Given the description of an element on the screen output the (x, y) to click on. 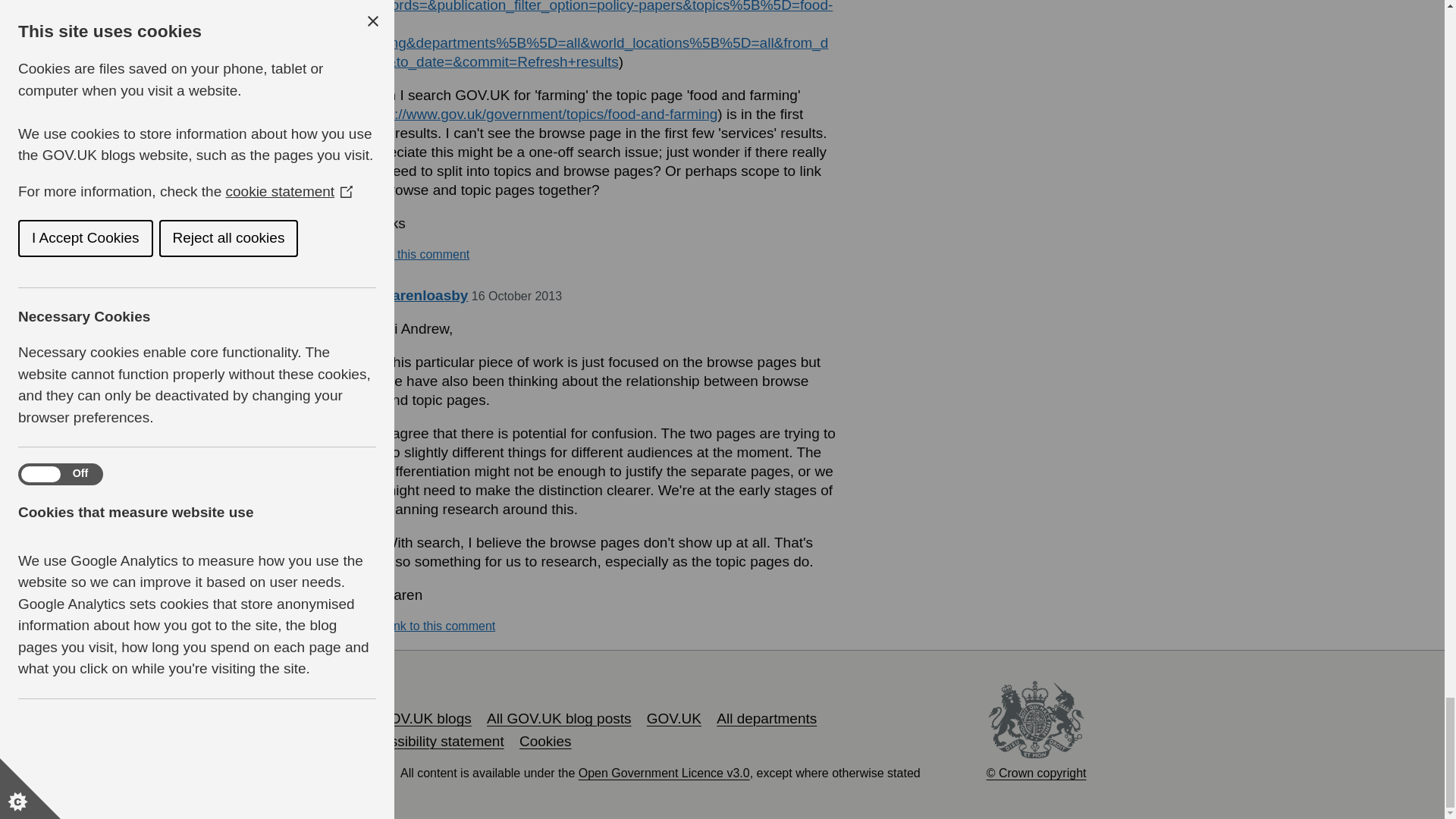
Link to this comment (413, 254)
karenloasby (425, 295)
Link to this comment (439, 626)
